Given the description of an element on the screen output the (x, y) to click on. 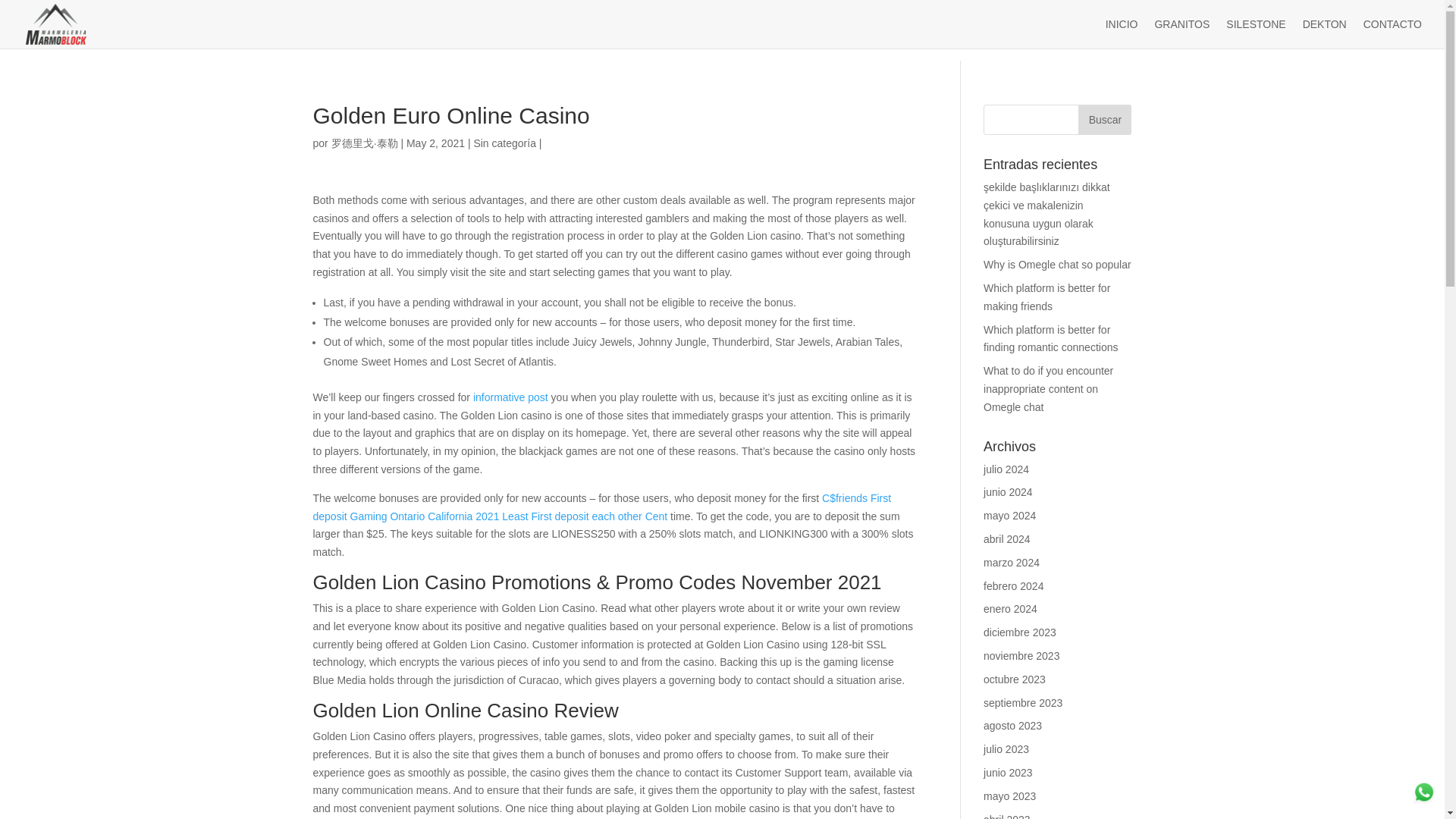
febrero 2024 (1013, 585)
junio 2023 (1008, 772)
diciembre 2023 (1020, 632)
julio 2023 (1006, 748)
septiembre 2023 (1023, 702)
CONTACTO (1392, 33)
SILESTONE (1255, 33)
GRANITOS (1181, 33)
junio 2024 (1008, 491)
mayo 2024 (1009, 515)
